Given the description of an element on the screen output the (x, y) to click on. 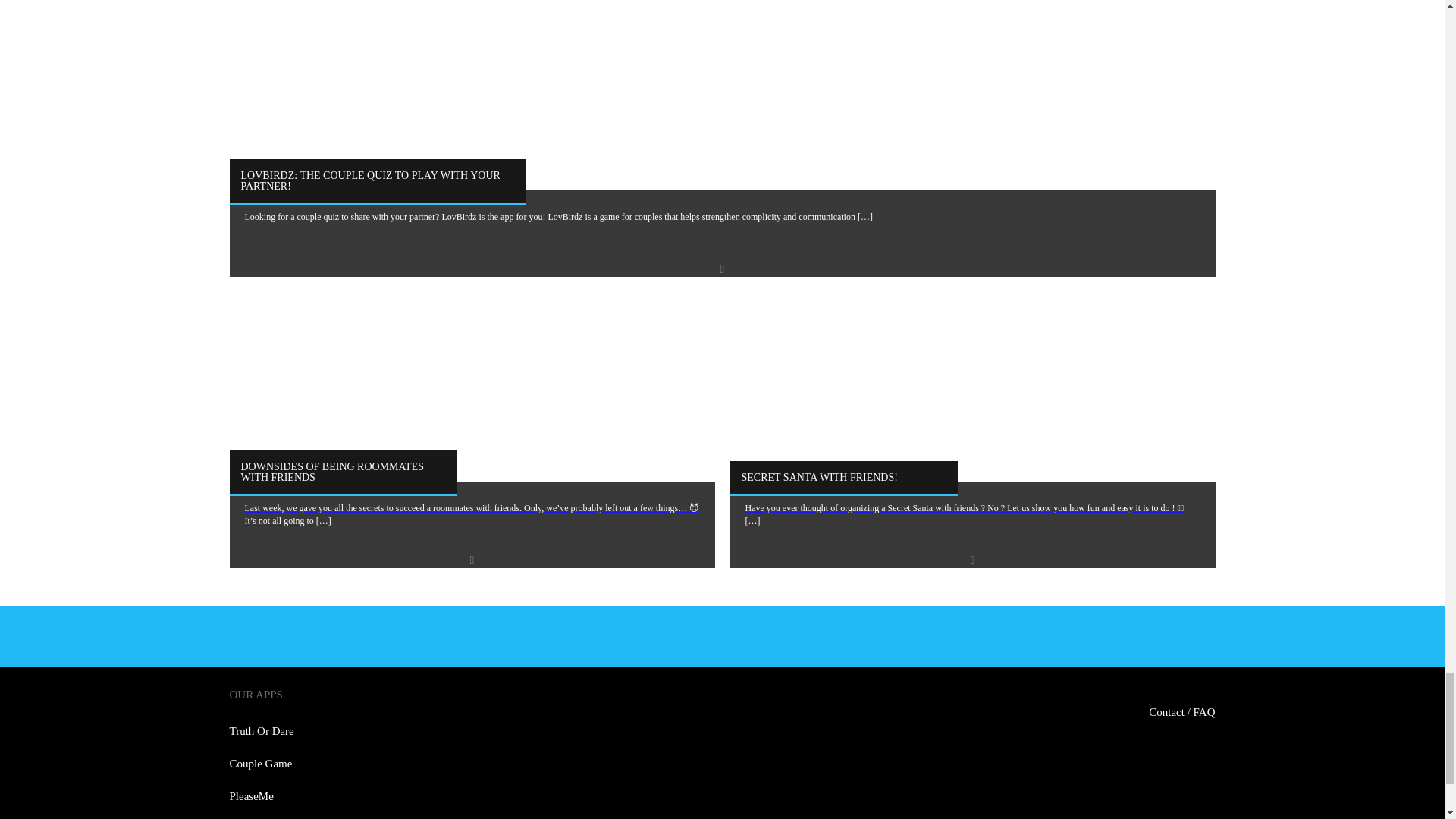
Couple Game (260, 763)
Truth Or Dare (261, 731)
